Given the description of an element on the screen output the (x, y) to click on. 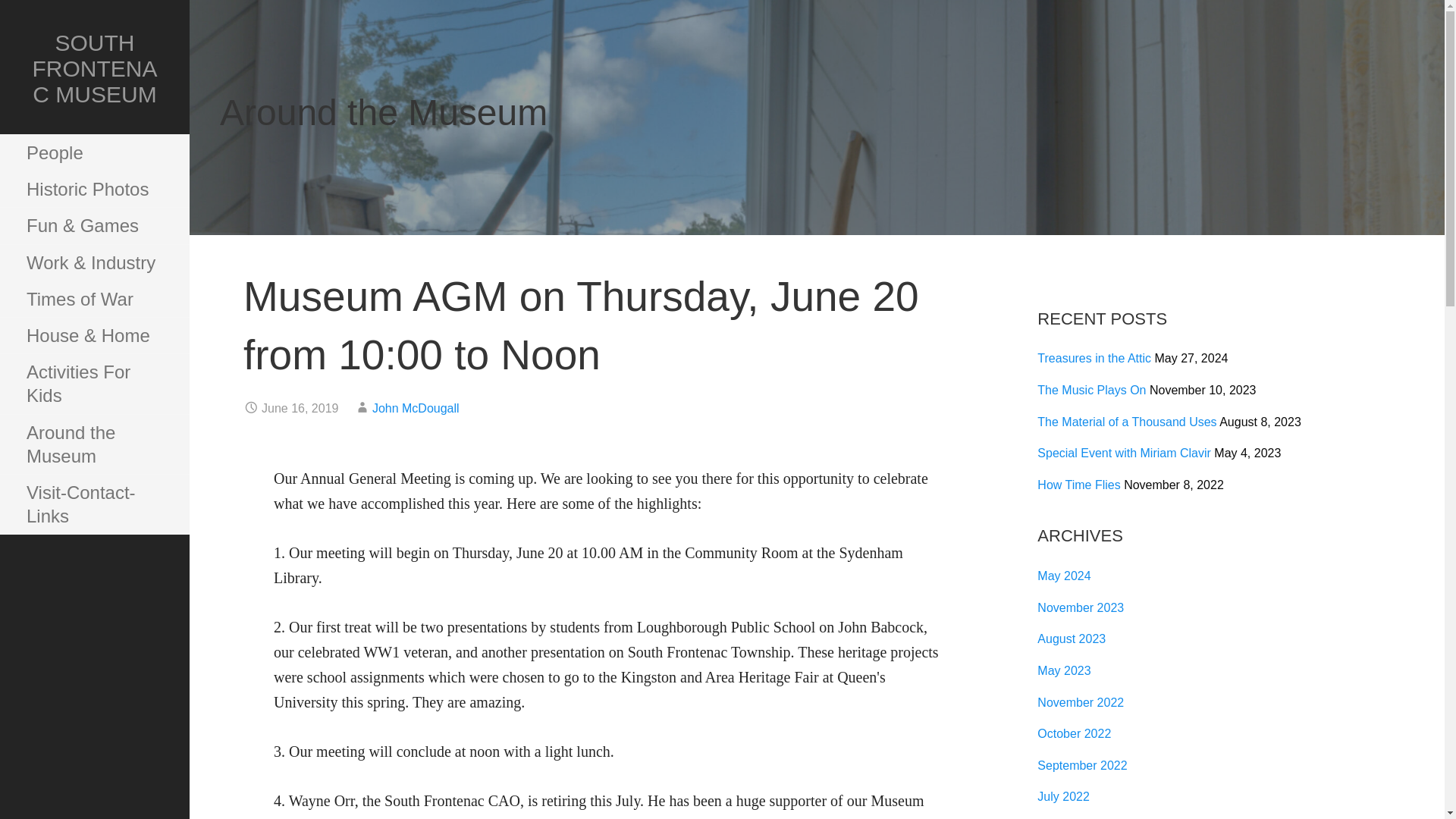
Treasures in the Attic (1093, 358)
August 2023 (1070, 638)
John McDougall (416, 408)
November 2023 (1080, 607)
The Music Plays On (1090, 390)
Visit-Contact-Links (94, 504)
Around the Museum (94, 444)
September 2022 (1081, 765)
May 2024 (1063, 575)
How Time Flies (1077, 484)
Posts by John McDougall (416, 408)
October 2022 (1073, 733)
November 2022 (1080, 702)
Activities For Kids (94, 383)
The Material of a Thousand Uses (1125, 421)
